Given the description of an element on the screen output the (x, y) to click on. 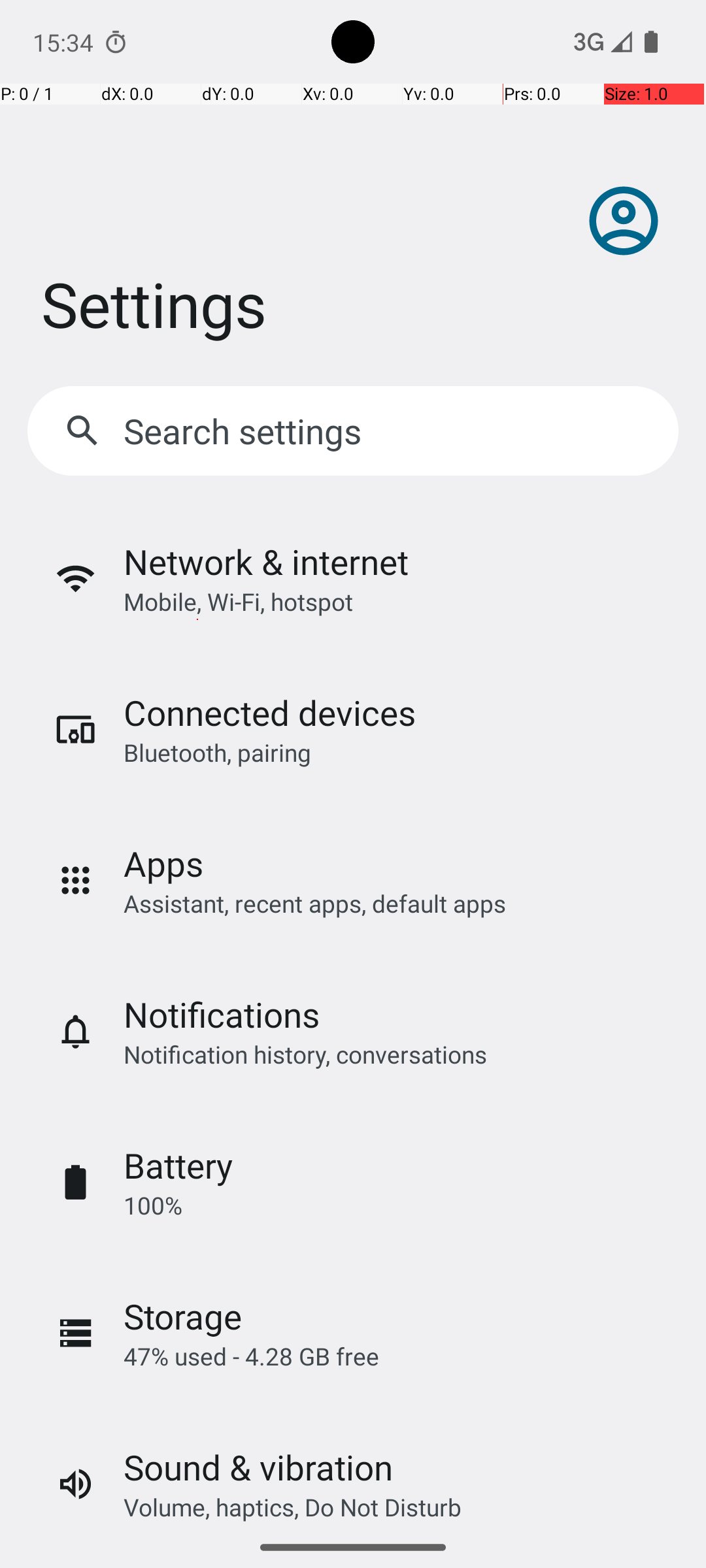
47% used - 4.28 GB free Element type: android.widget.TextView (251, 1355)
